Given the description of an element on the screen output the (x, y) to click on. 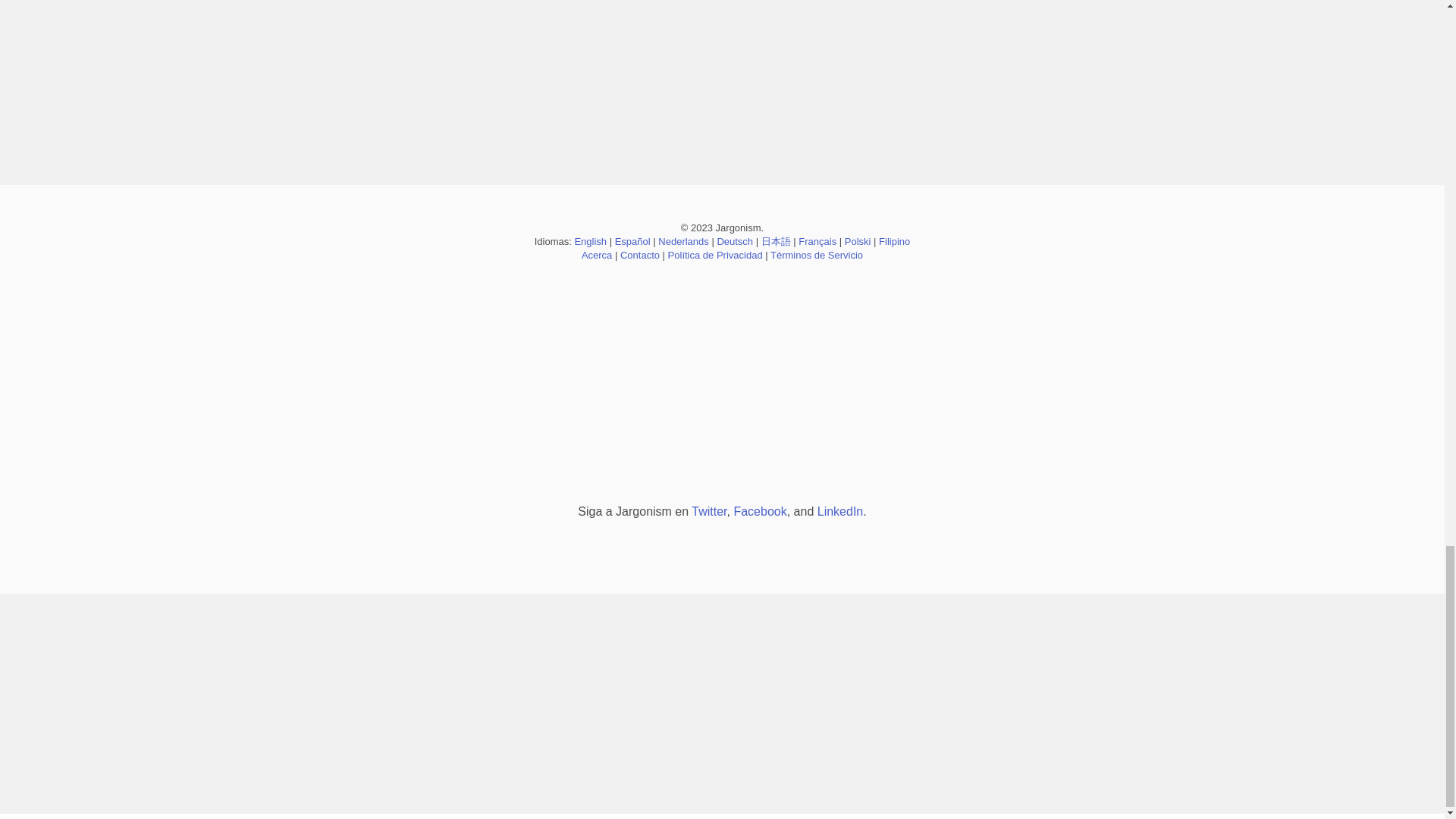
Twitter (708, 511)
Polski (857, 241)
Acerca (595, 255)
English (590, 241)
Nederlands (683, 241)
Facebook (759, 511)
Contacto (639, 255)
